Given the description of an element on the screen output the (x, y) to click on. 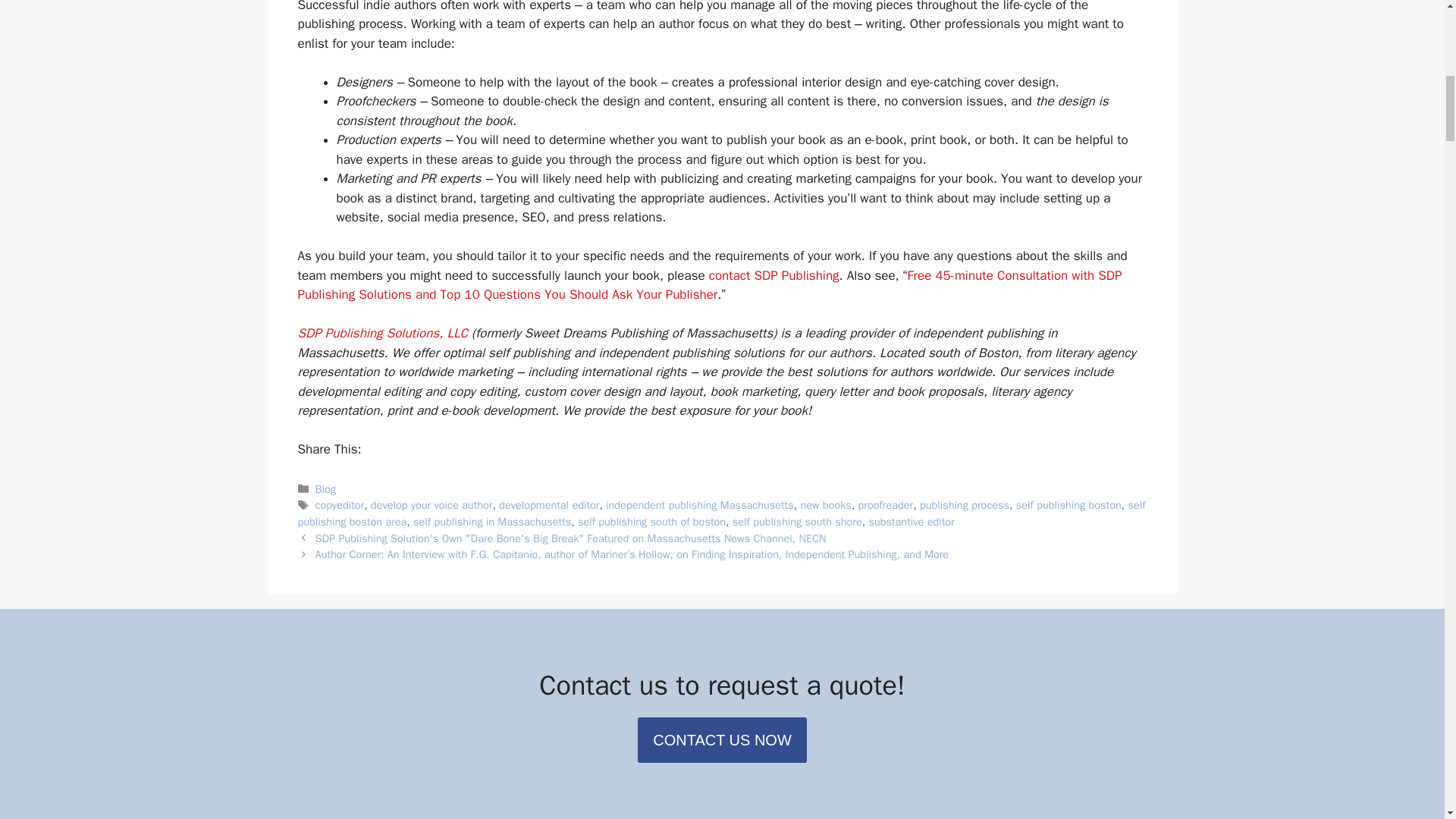
Scroll back to top (1406, 720)
